Given the description of an element on the screen output the (x, y) to click on. 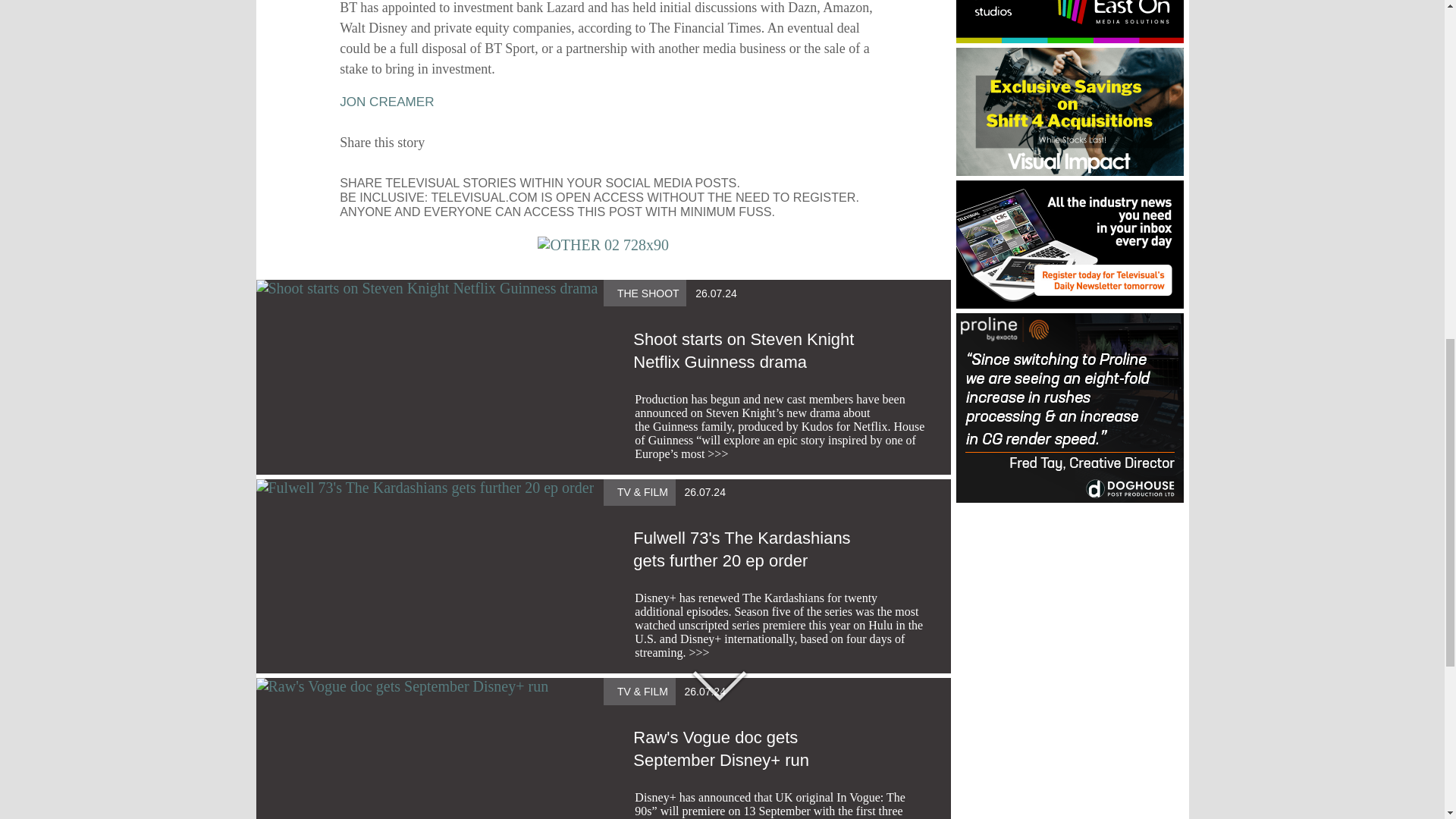
JON CREAMER (386, 101)
